Given the description of an element on the screen output the (x, y) to click on. 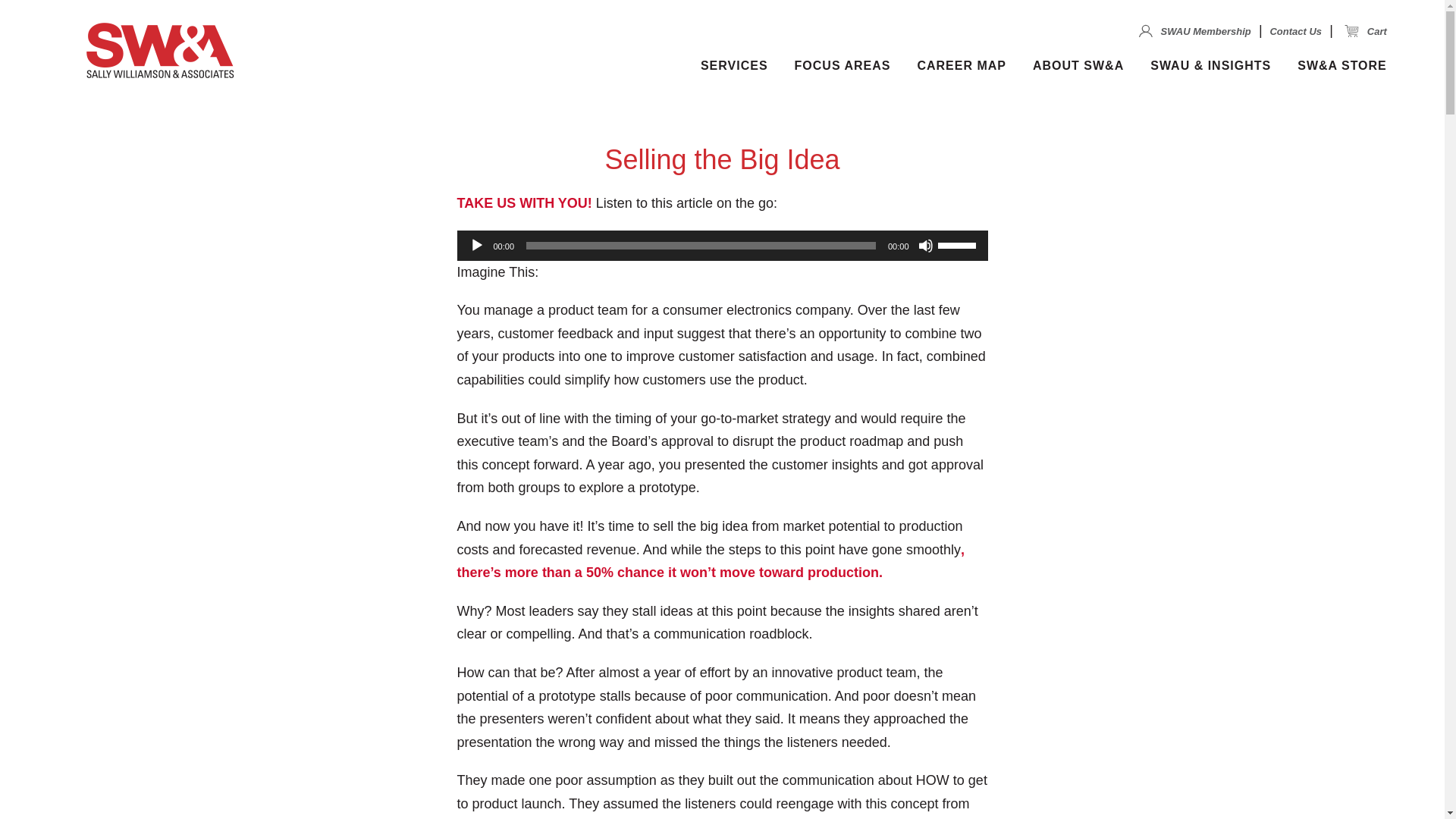
Contact Us (1295, 30)
FOCUS AREAS (842, 65)
Cart (1365, 30)
Mute (925, 245)
SWAU Membership (1194, 30)
SERVICES (734, 65)
Play (475, 245)
Home page (159, 53)
